Given the description of an element on the screen output the (x, y) to click on. 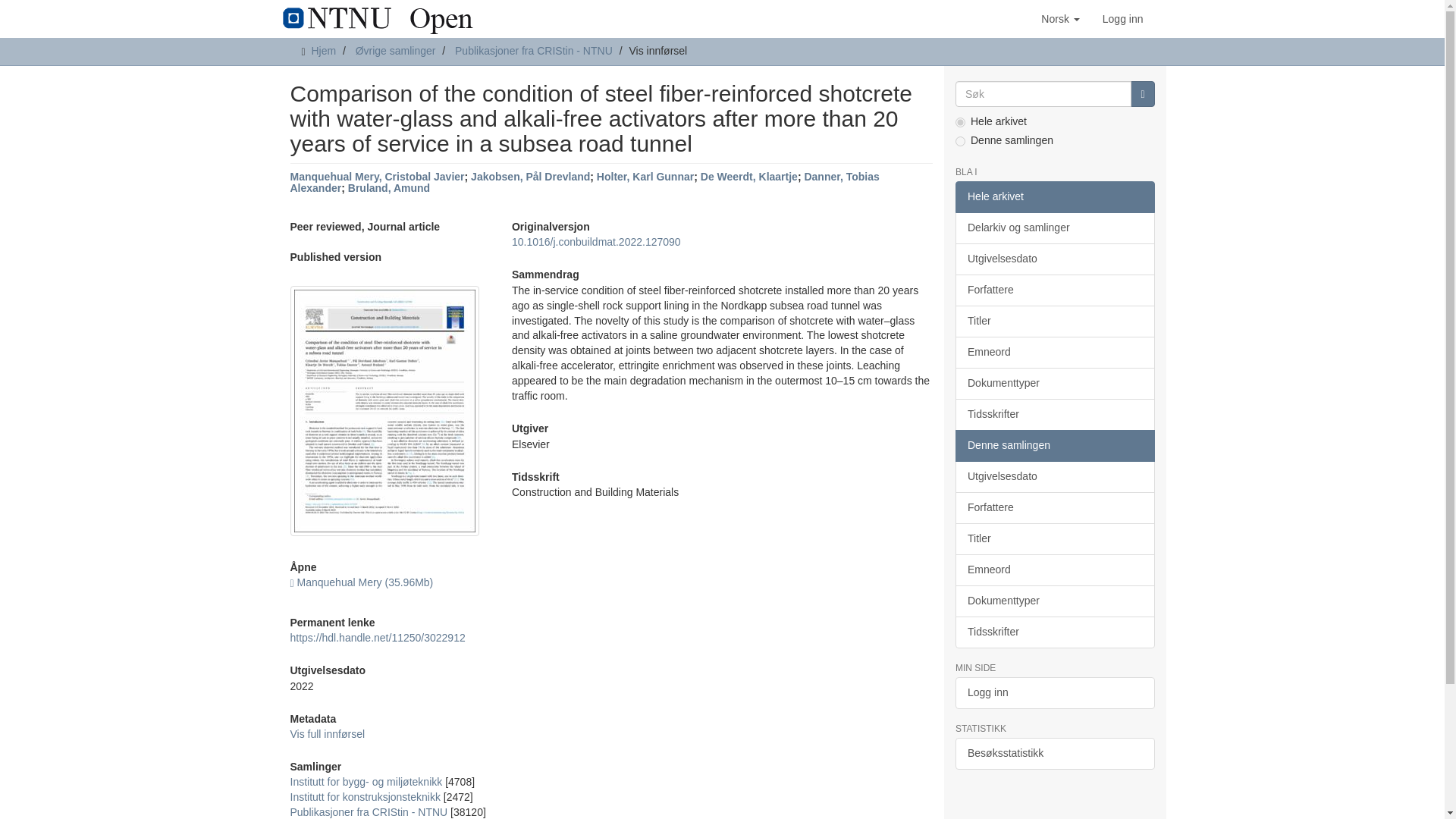
Institutt for konstruksjonsteknikk (364, 797)
Publikasjoner fra CRIStin - NTNU (533, 50)
Danner, Tobias Alexander (584, 182)
Norsk  (1059, 18)
Publikasjoner fra CRIStin - NTNU (367, 811)
Bruland, Amund (388, 187)
De Weerdt, Klaartje (748, 176)
Holter, Karl Gunnar (645, 176)
Hjem (323, 50)
Logg inn (1122, 18)
Manquehual Mery, Cristobal Javier (376, 176)
